Given the description of an element on the screen output the (x, y) to click on. 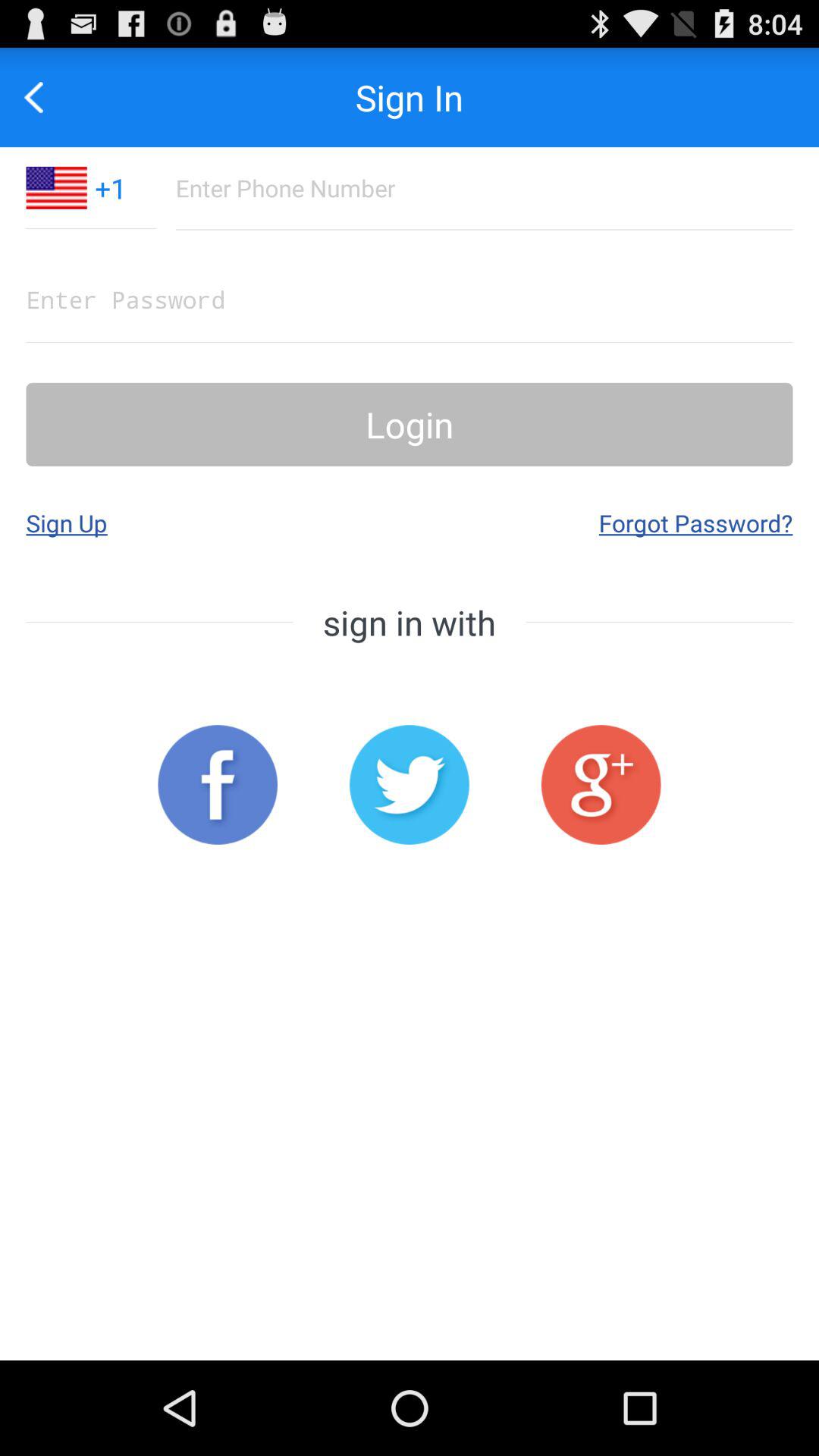
sign in with facebook (217, 784)
